Given the description of an element on the screen output the (x, y) to click on. 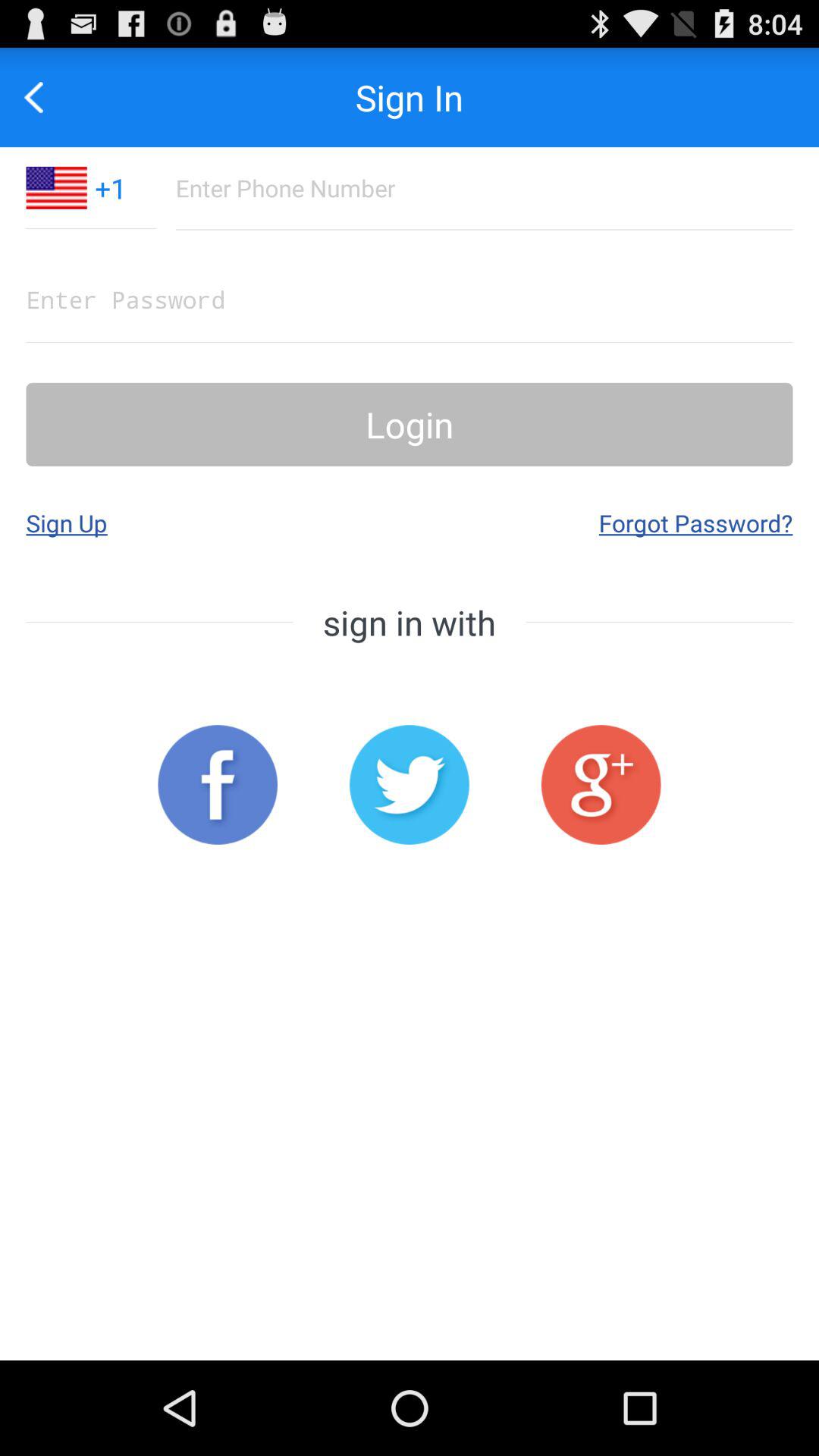
sign in with facebook (217, 784)
